Given the description of an element on the screen output the (x, y) to click on. 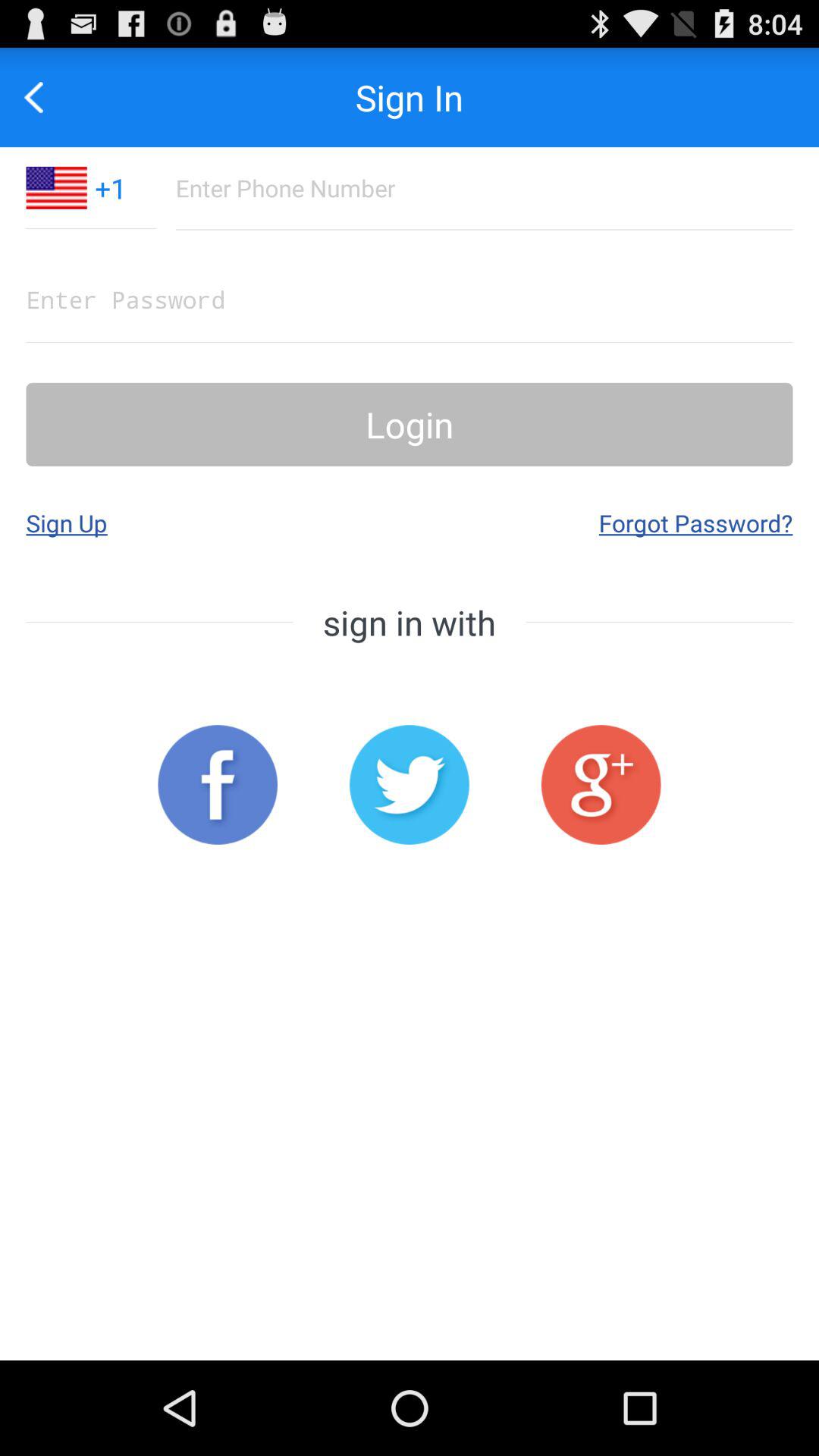
sign in with facebook (217, 784)
